Given the description of an element on the screen output the (x, y) to click on. 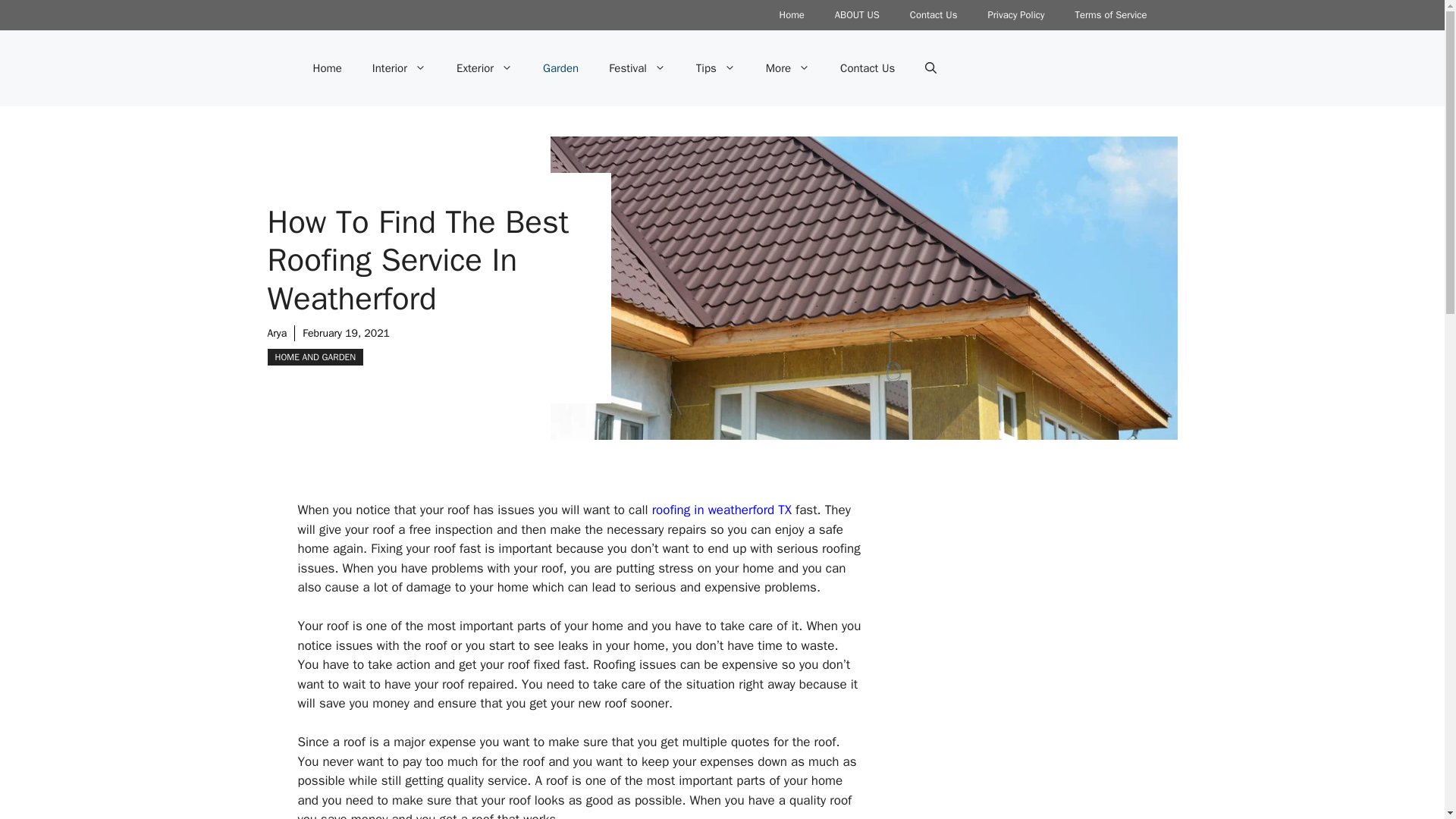
Privacy Policy (1015, 15)
ABOUT US (857, 15)
Interior (398, 67)
Home (326, 67)
More (788, 67)
Garden (560, 67)
Home (791, 15)
Contact Us (933, 15)
Festival (637, 67)
Tips (716, 67)
